Given the description of an element on the screen output the (x, y) to click on. 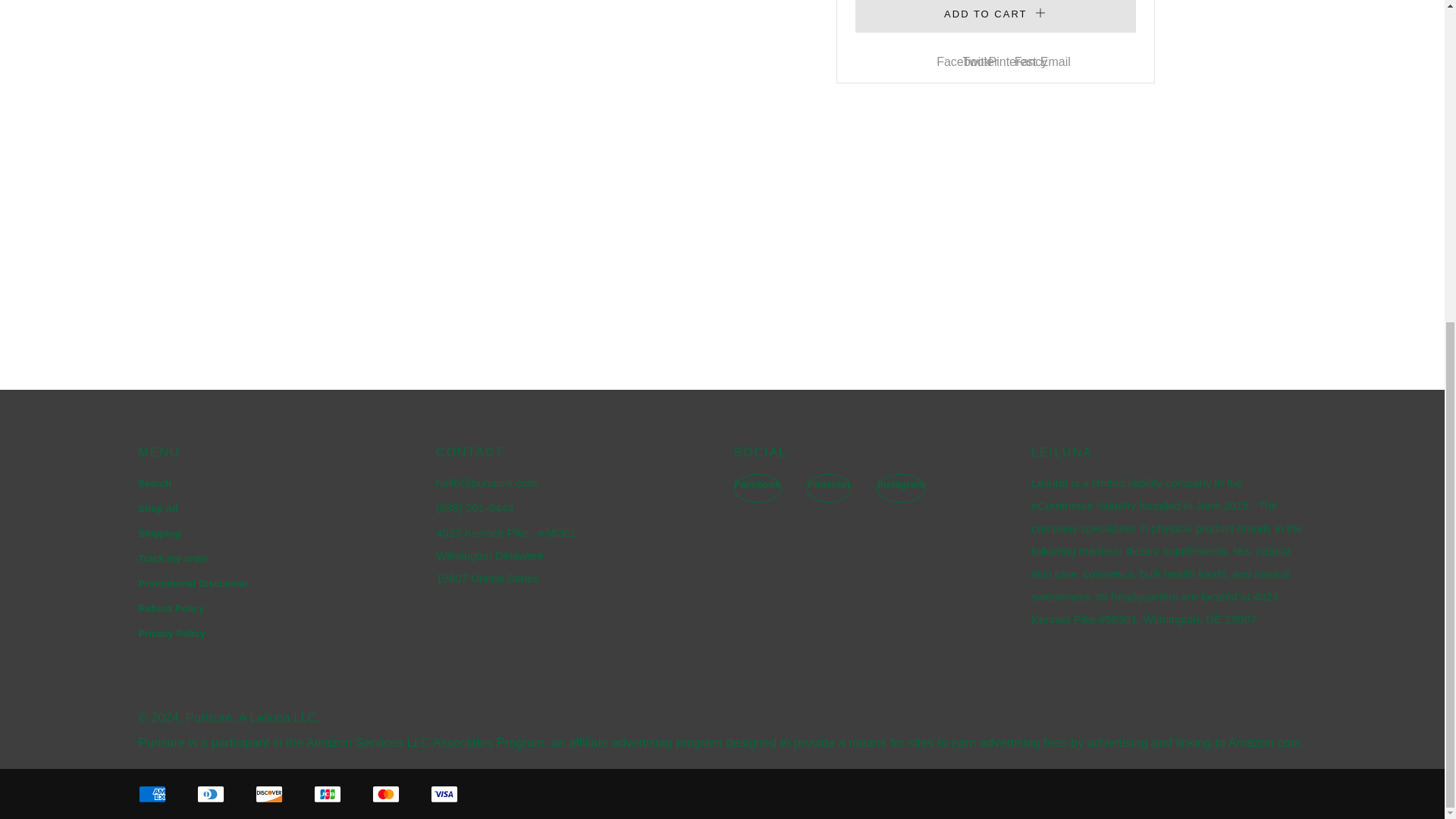
American Express (151, 794)
Diners Club (210, 794)
JCB (327, 794)
Visa (444, 794)
Mastercard (385, 794)
Discover (269, 794)
